Given the description of an element on the screen output the (x, y) to click on. 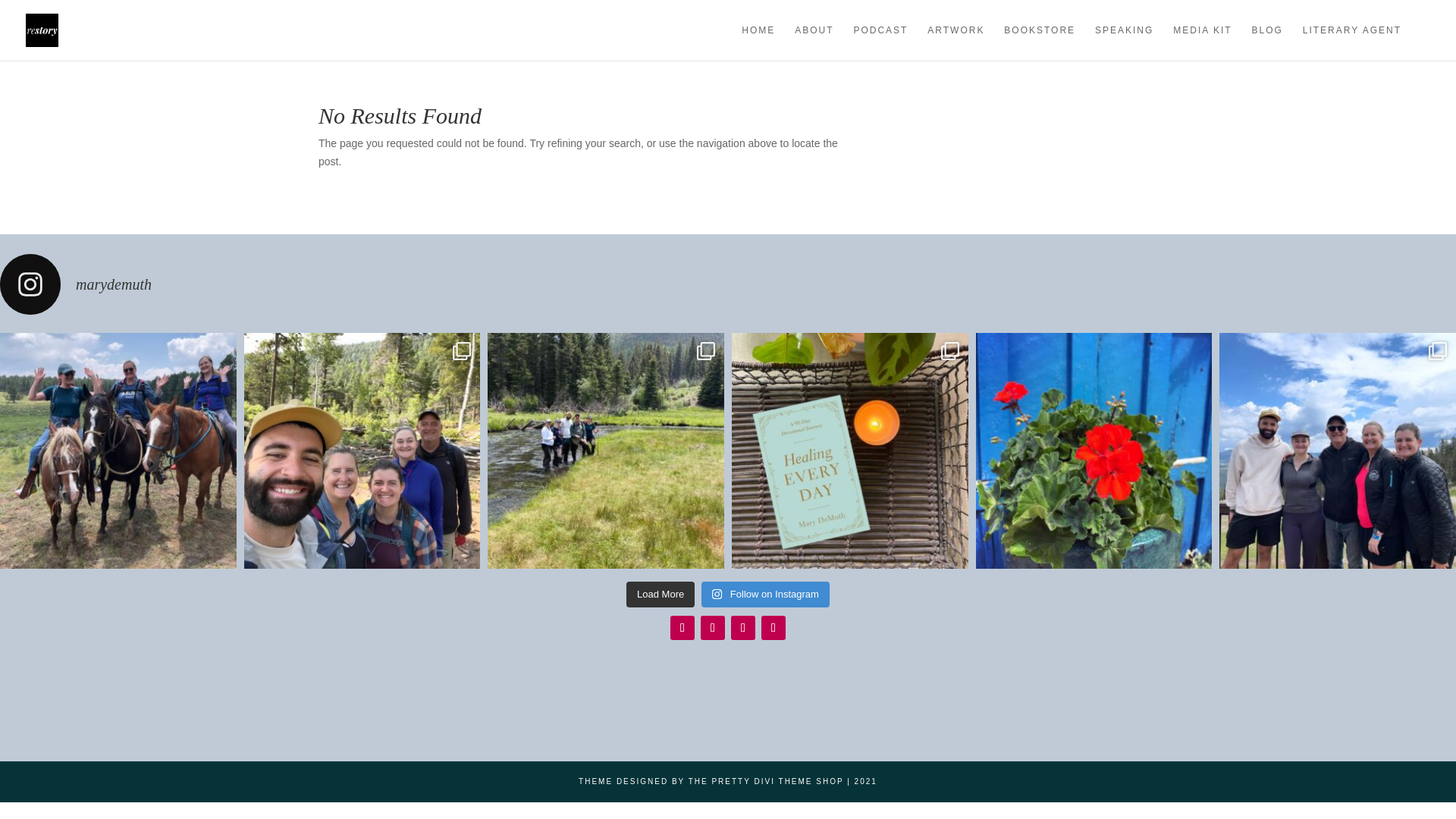
Follow on Instagram (681, 627)
ABOUT (813, 42)
Follow on Twitter (712, 627)
Follow on Youtube (773, 627)
LITERARY AGENT (1351, 42)
BLOG (1266, 42)
PODCAST (880, 42)
HOME (757, 42)
Follow on Instagram (765, 594)
BOOKSTORE (1039, 42)
ARTWORK (955, 42)
SPEAKING (1123, 42)
MEDIA KIT (1202, 42)
Follow on Facebook (742, 627)
THE PRETTY DIVI THEME SHOP (766, 781)
